Given the description of an element on the screen output the (x, y) to click on. 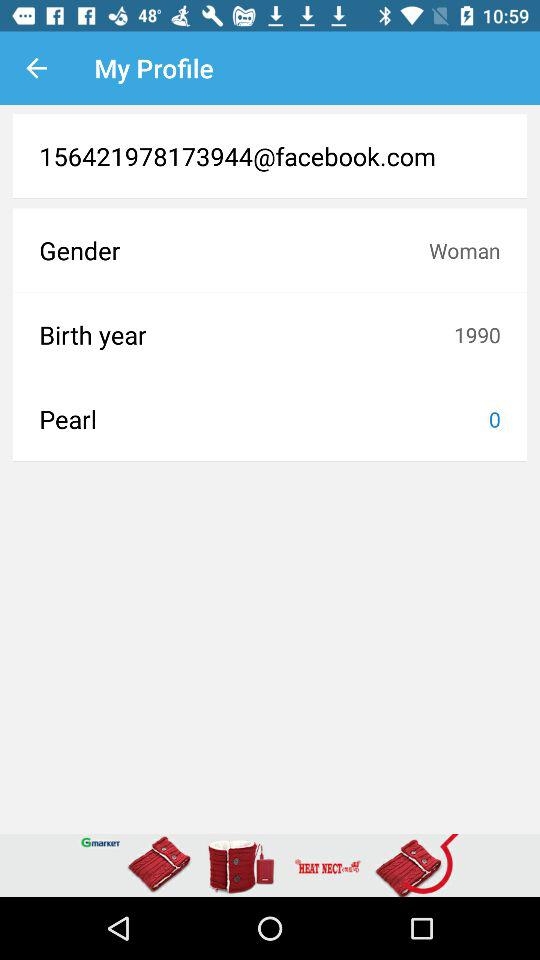
turn off item to the right of pearl icon (494, 419)
